Given the description of an element on the screen output the (x, y) to click on. 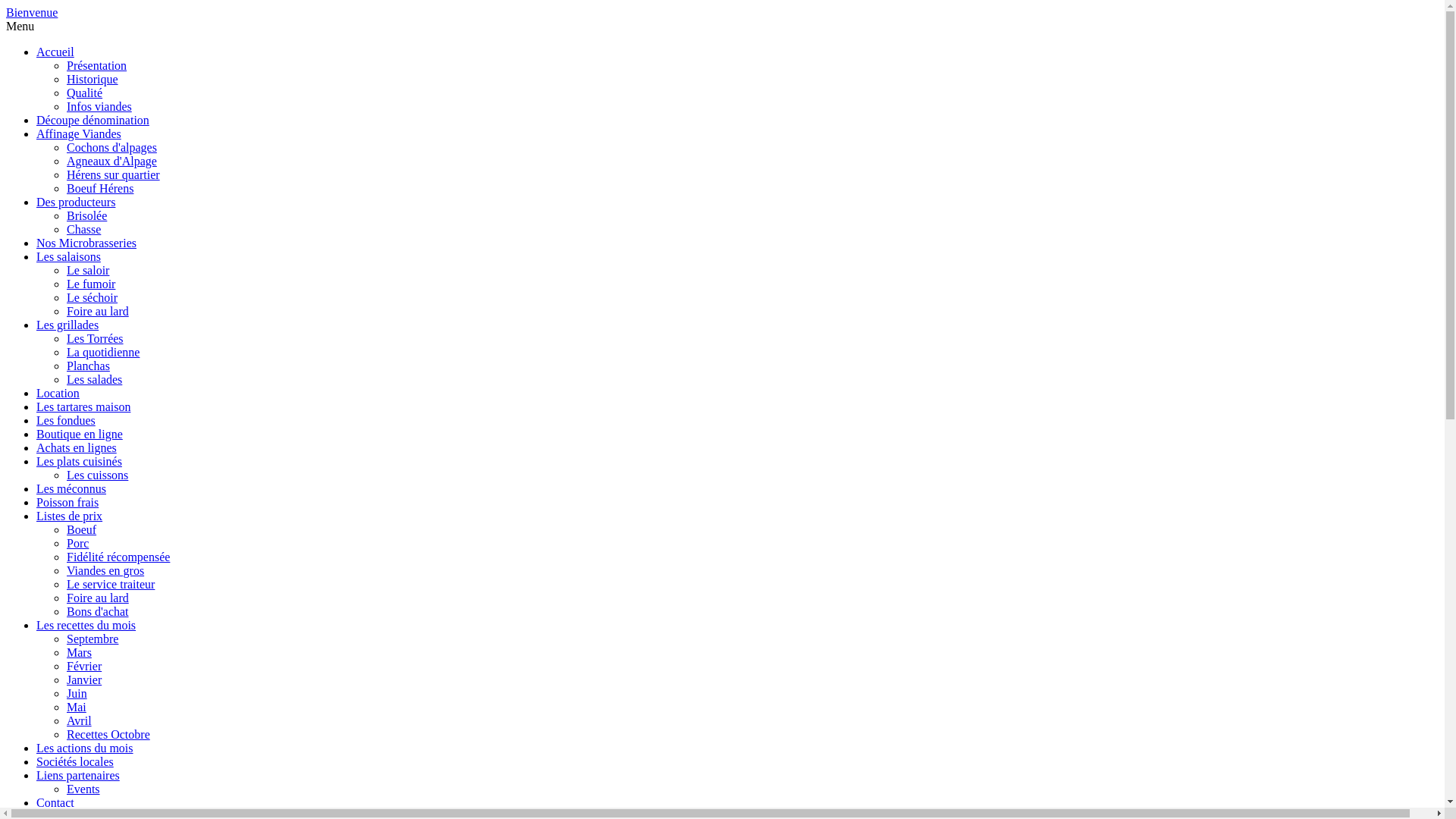
Le service traiteur Element type: text (110, 583)
Boeuf Element type: text (81, 529)
Viandes en gros Element type: text (105, 570)
Events Element type: text (83, 788)
Liens partenaires Element type: text (77, 774)
La quotidienne Element type: text (102, 351)
Poisson frais Element type: text (67, 501)
Bienvenue Element type: text (31, 12)
Avril Element type: text (78, 720)
Contact Element type: text (55, 802)
Les grillades Element type: text (67, 324)
Historique Element type: text (92, 78)
Affinage Viandes Element type: text (78, 133)
Des producteurs Element type: text (75, 201)
Recettes Octobre Element type: text (108, 734)
Infos viandes Element type: text (98, 106)
Les fondues Element type: text (65, 420)
Septembre Element type: text (92, 638)
Le saloir Element type: text (87, 269)
Mai Element type: text (76, 706)
Les salades Element type: text (94, 379)
Achats en lignes Element type: text (76, 447)
Planchas Element type: text (87, 365)
Porc Element type: text (77, 542)
Location Element type: text (57, 392)
Listes de prix Element type: text (69, 515)
Mars Element type: text (78, 652)
Bons d'achat Element type: text (97, 611)
Juin Element type: text (76, 693)
Accueil Element type: text (55, 51)
Les salaisons Element type: text (68, 256)
Menu Element type: text (20, 25)
Foire au lard Element type: text (97, 310)
Cochons d'alpages Element type: text (111, 147)
Foire au lard Element type: text (97, 597)
Le fumoir Element type: text (90, 283)
Chasse Element type: text (83, 228)
Les recettes du mois Element type: text (85, 624)
Janvier Element type: text (83, 679)
Agneaux d'Alpage Element type: text (111, 160)
Les tartares maison Element type: text (83, 406)
Les cuissons Element type: text (97, 474)
Boutique en ligne Element type: text (79, 433)
Les actions du mois Element type: text (84, 747)
Nos Microbrasseries Element type: text (86, 242)
